Given the description of an element on the screen output the (x, y) to click on. 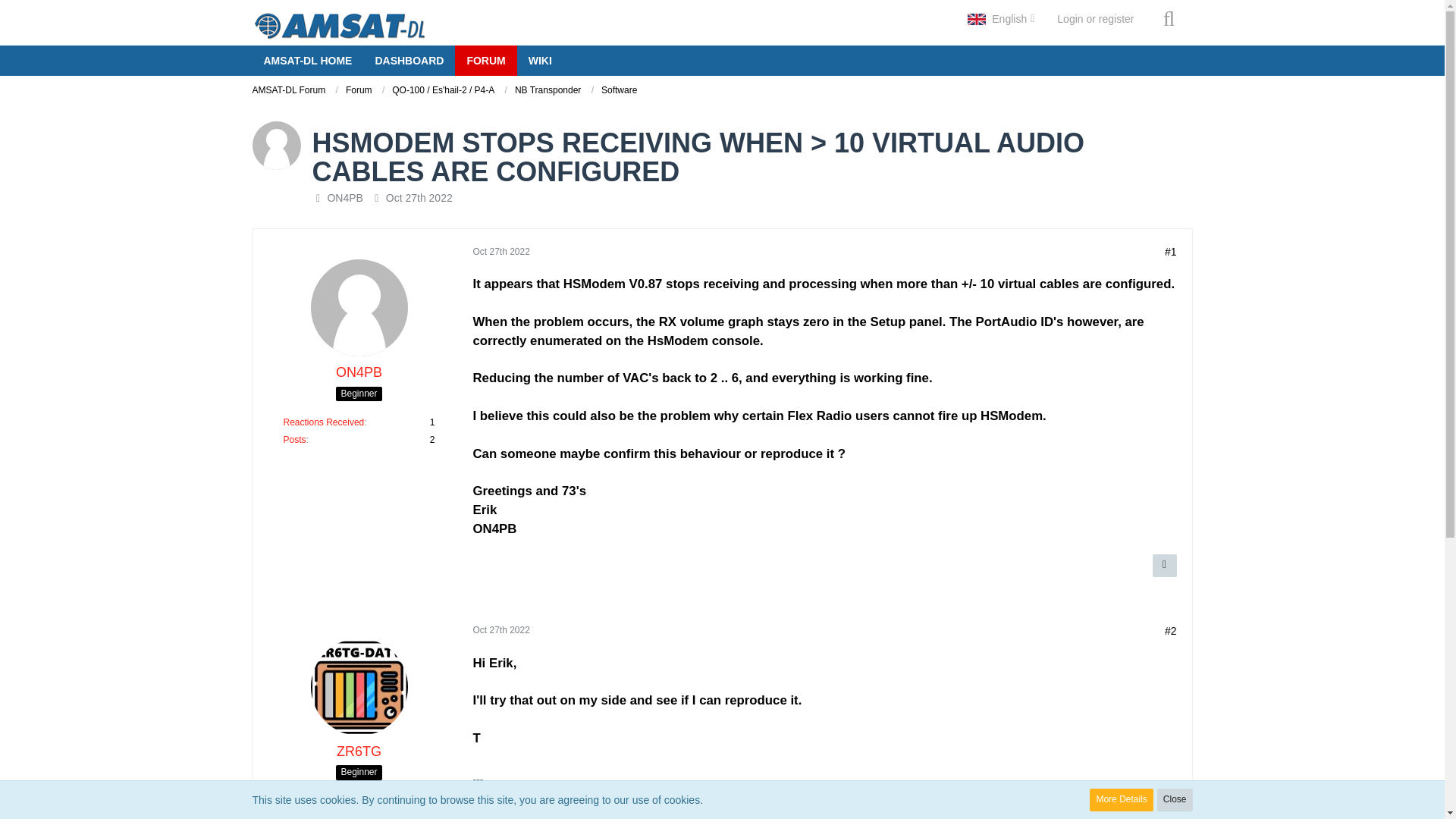
Software (619, 90)
Forum (365, 90)
Forum (359, 90)
Posts (294, 816)
ZR6TG (358, 751)
Posts (294, 439)
Reactions Received (324, 801)
Oct 27th 2022 (501, 251)
ON4PB (358, 372)
DASHBOARD (408, 60)
ON4PB (344, 197)
AMSAT-DL HOME (306, 60)
